Given the description of an element on the screen output the (x, y) to click on. 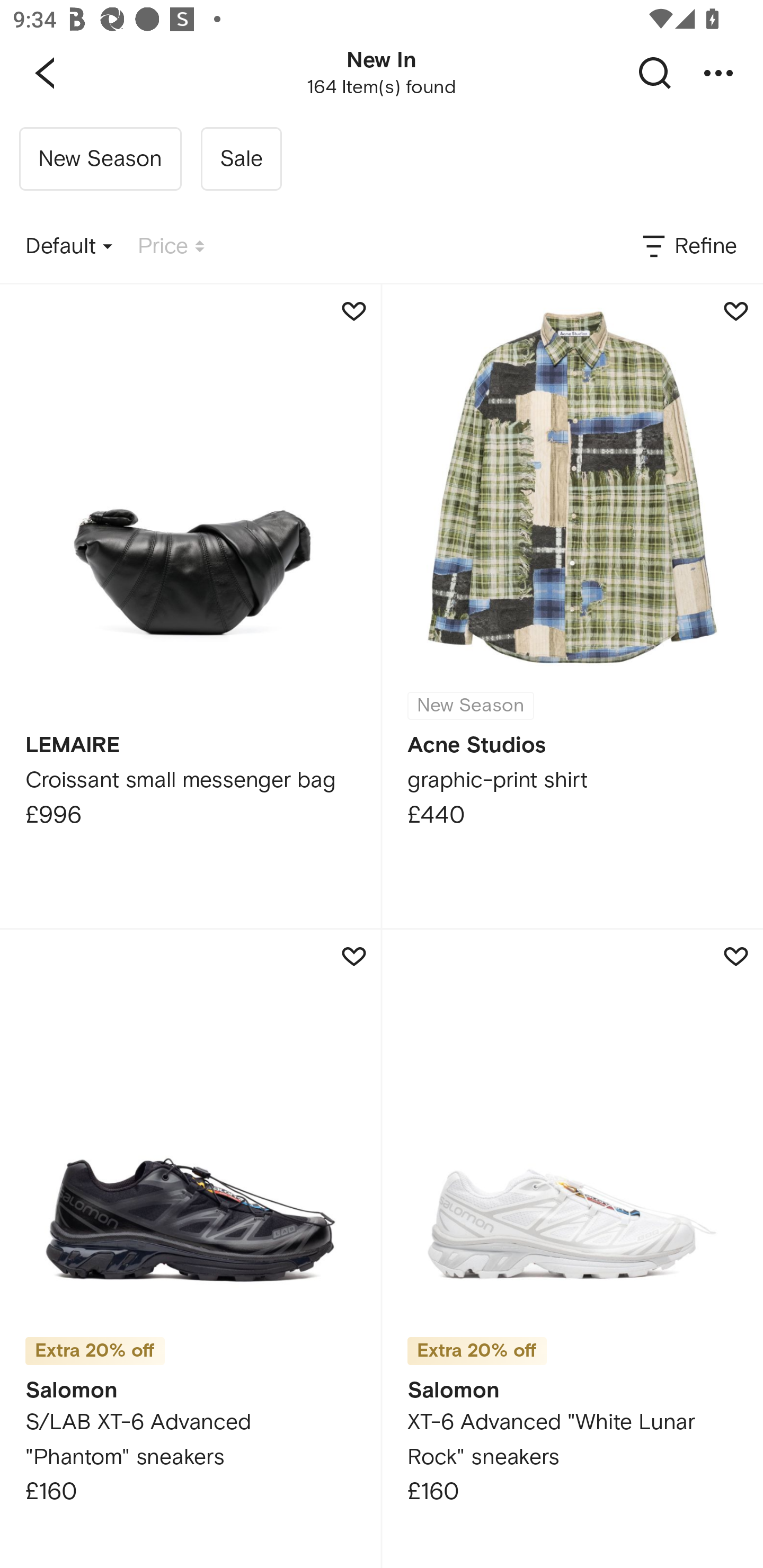
New Season (100, 158)
Sale (240, 158)
Default (68, 246)
Price (171, 246)
Refine (688, 246)
LEMAIRE Croissant small messenger bag £996 (190, 605)
New Season Acne Studios graphic-print shirt £440 (572, 605)
Extra 20% off (94, 1351)
Extra 20% off (477, 1351)
